Given the description of an element on the screen output the (x, y) to click on. 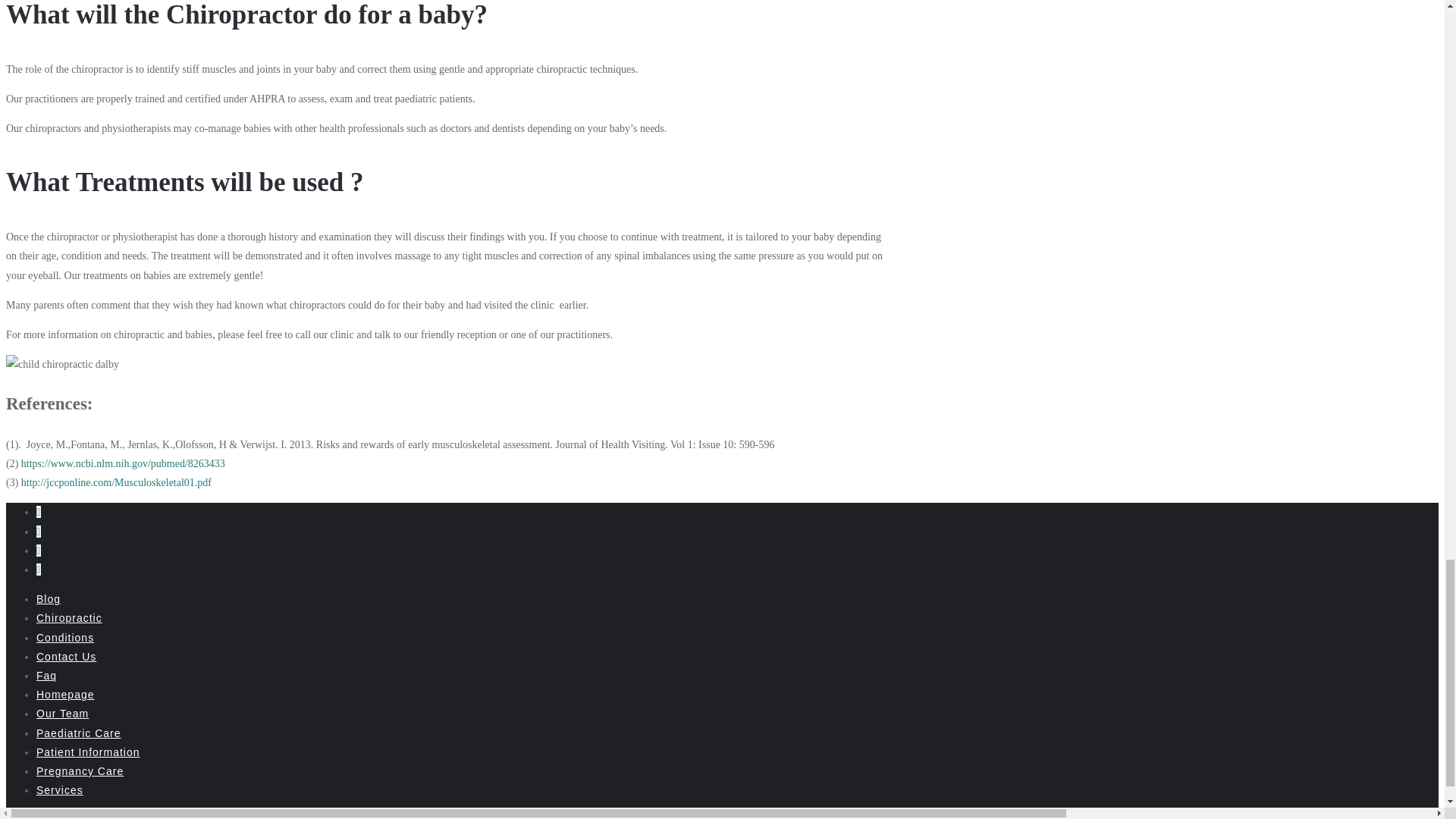
Our Team (62, 713)
Conditions (65, 637)
Homepage (65, 694)
Patient Information (87, 752)
Chiropractic (68, 617)
Contact Us (66, 656)
Faq (46, 675)
Paediatric Care (78, 733)
Pregnancy Care (79, 770)
Blog (48, 598)
